Given the description of an element on the screen output the (x, y) to click on. 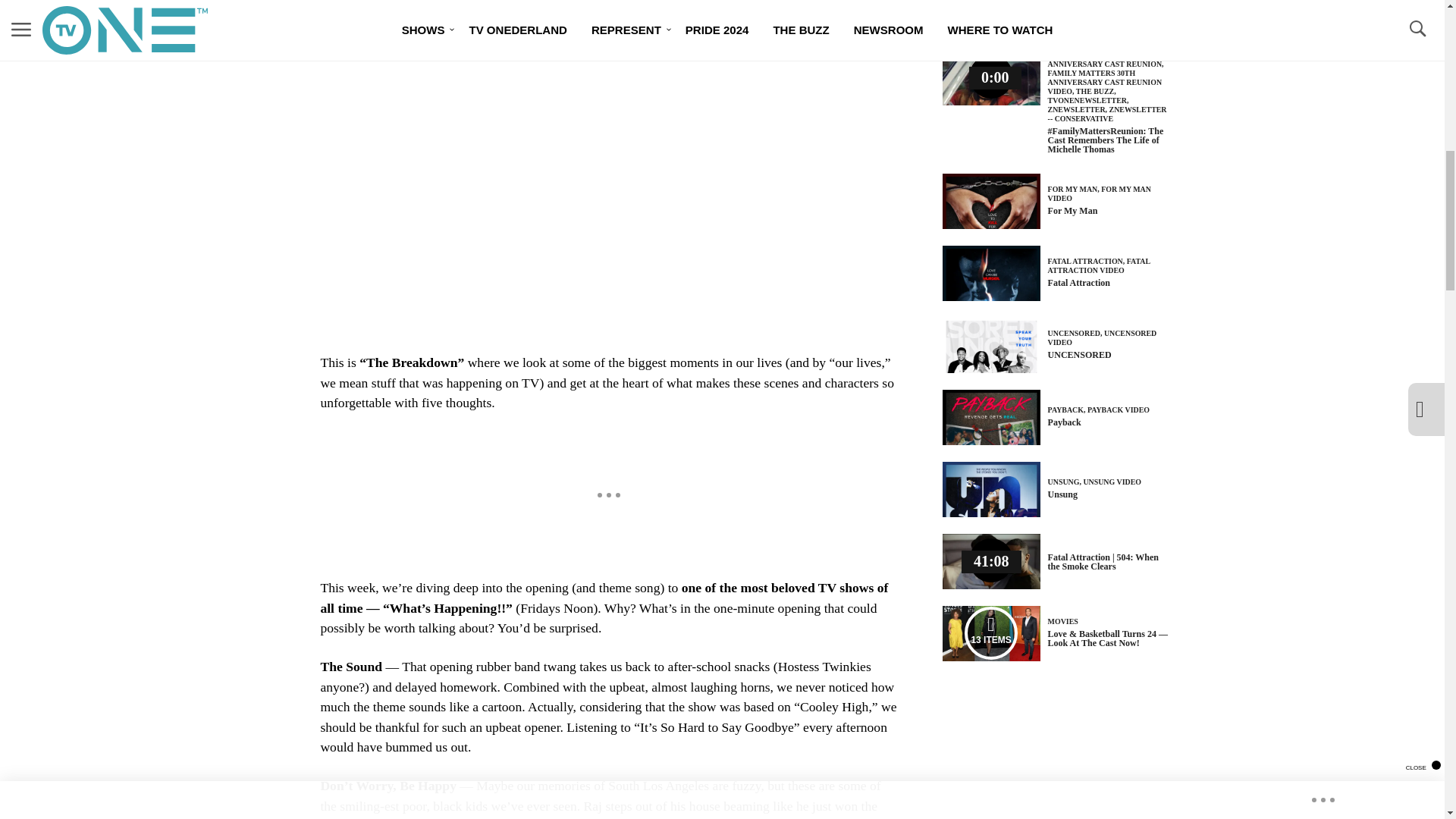
Media Playlist (990, 633)
Embedded video (607, 196)
